Given the description of an element on the screen output the (x, y) to click on. 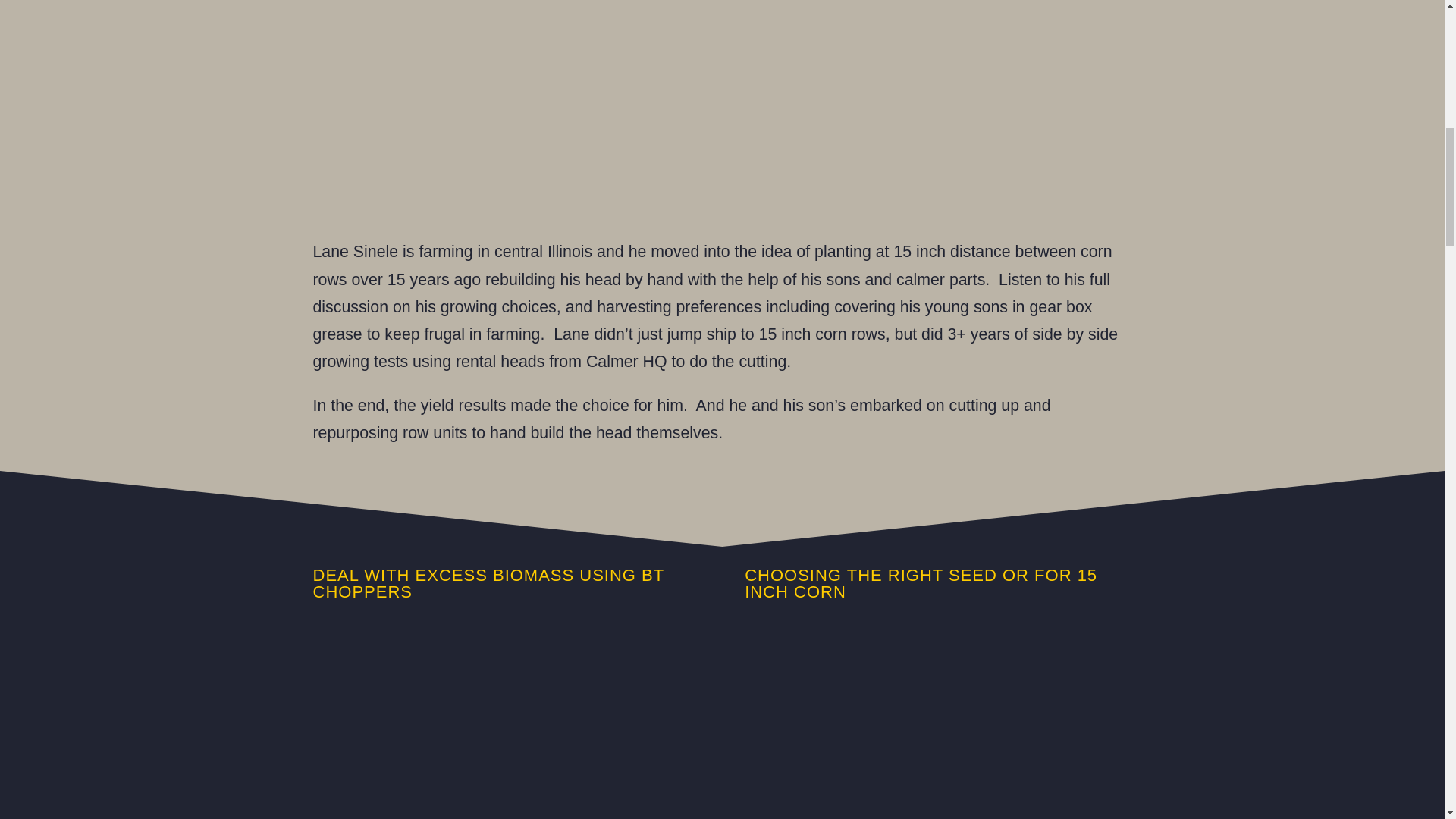
15-Inch Corn Head with Calmer BT Chopper Stalk Rolls (505, 724)
Choosing the Right Seed for Narrow Row Corn (937, 724)
